Given the description of an element on the screen output the (x, y) to click on. 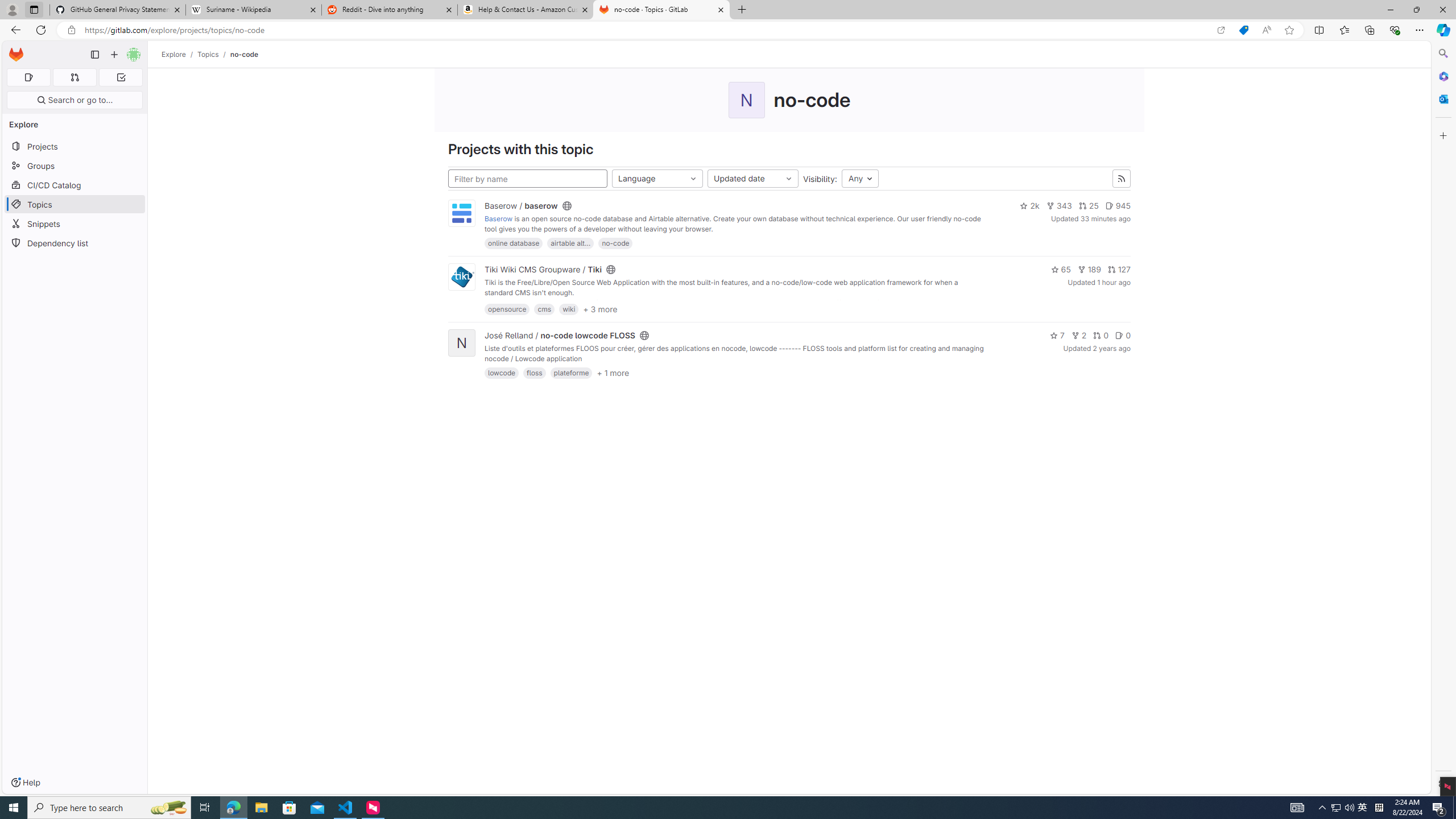
Snippets (74, 223)
online database (513, 243)
189 (1088, 269)
945 (1118, 205)
plateforme (571, 372)
Explore (173, 53)
Explore/ (179, 53)
wiki (568, 308)
CI/CD Catalog (74, 185)
no-code (244, 53)
343 (1058, 205)
